Given the description of an element on the screen output the (x, y) to click on. 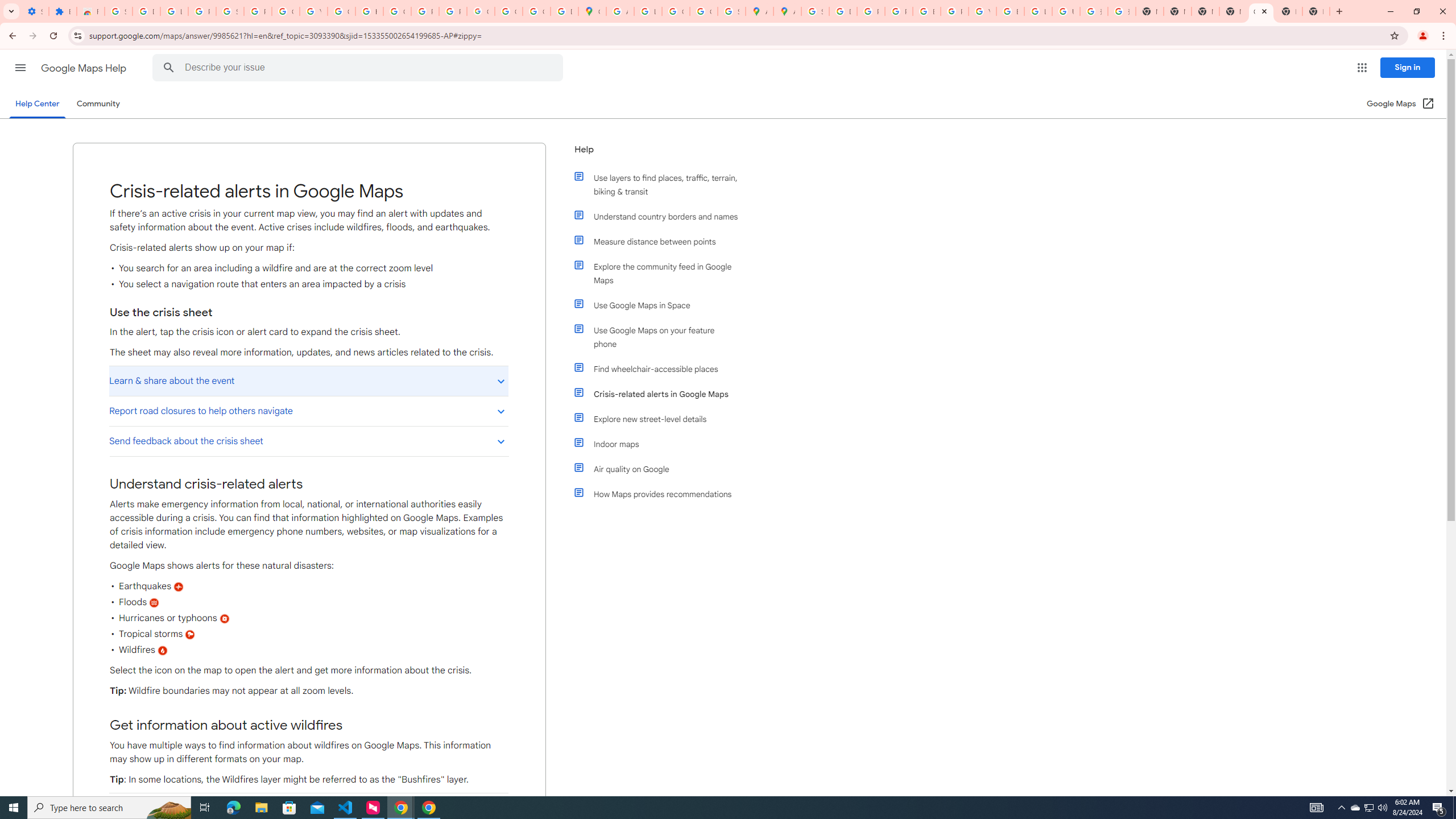
Privacy Help Center - Policies Help (898, 11)
Google Maps Help (84, 68)
Use Google Maps in Space (661, 305)
Community (97, 103)
YouTube (982, 11)
Measure distance between points (661, 241)
Search Help Center (168, 67)
Google Maps (Open in a new window) (1400, 103)
New Tab (1316, 11)
